Given the description of an element on the screen output the (x, y) to click on. 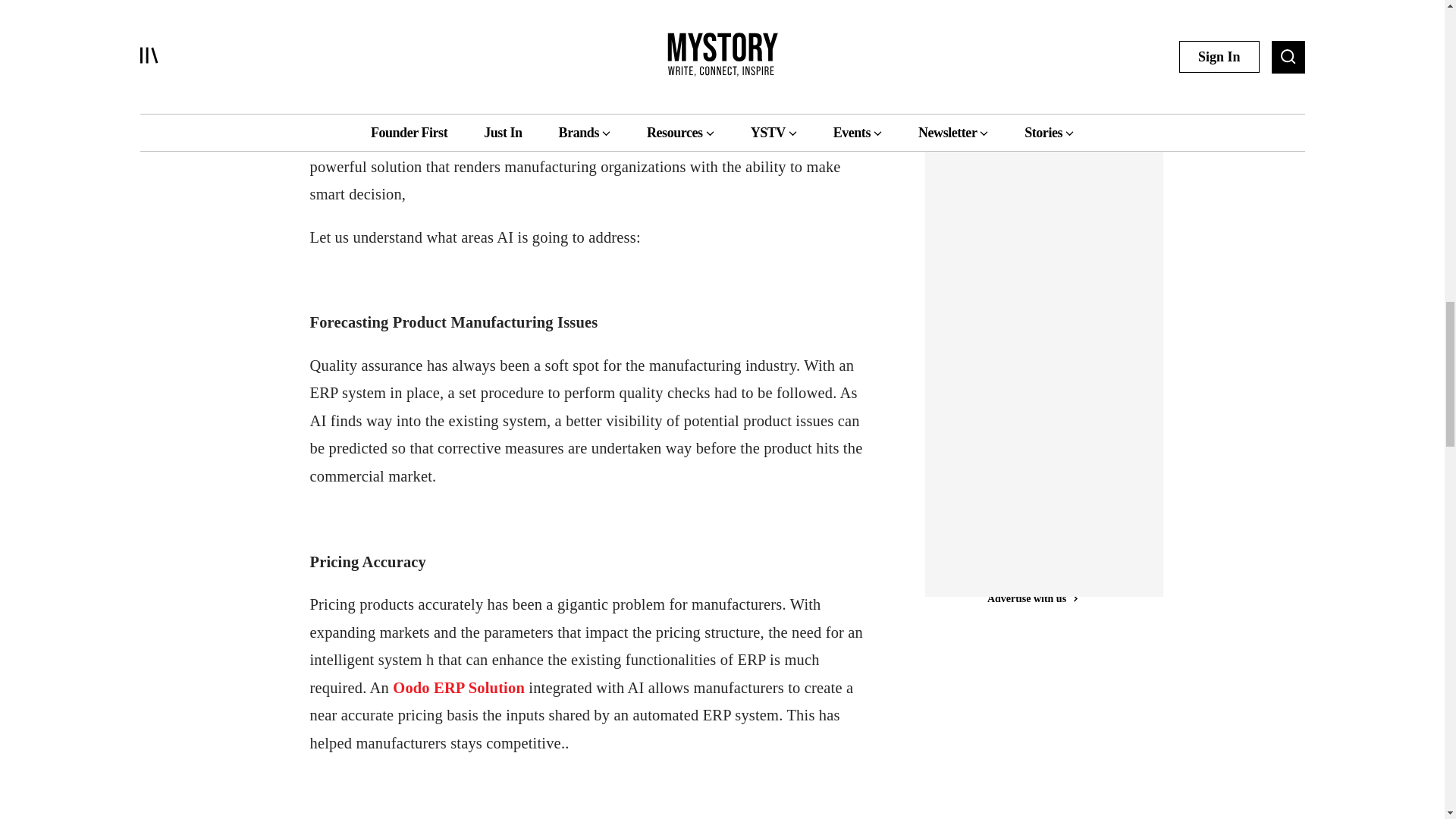
Oodo ERP Solution (458, 687)
Advertise with us (1032, 111)
TECH (970, 19)
